Given the description of an element on the screen output the (x, y) to click on. 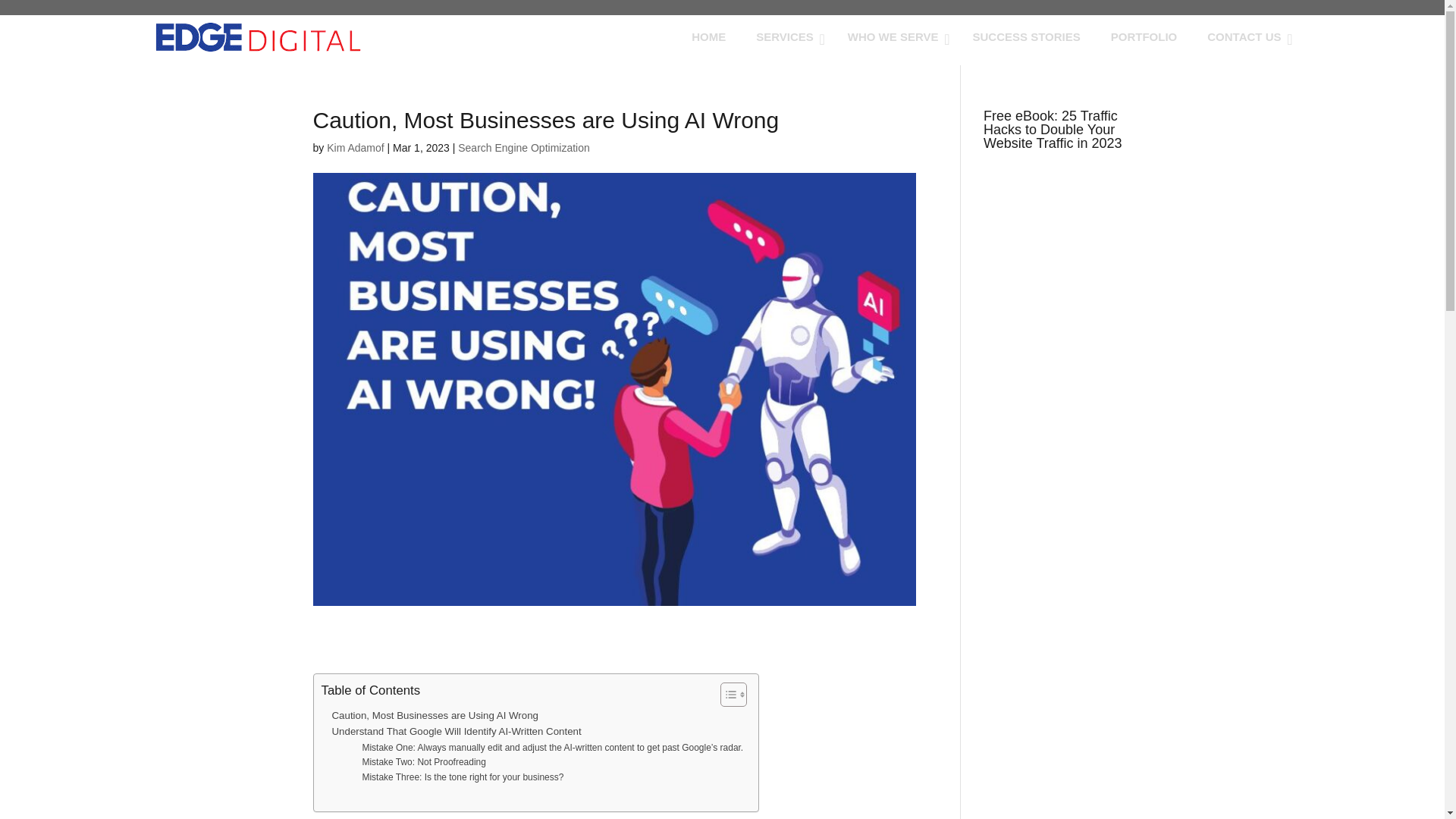
PORTFOLIO (1144, 36)
Mistake Two: Not Proofreading (422, 762)
SERVICES (786, 36)
Caution, Most Businesses are Using AI Wrong (434, 715)
SUCCESS STORIES (1025, 36)
WHO WE SERVE (895, 36)
Understand That Google Will Identify AI-Written Content (455, 731)
Mistake Three: Is the tone right for your business? (462, 777)
CONTACT US (1246, 36)
